Given the description of an element on the screen output the (x, y) to click on. 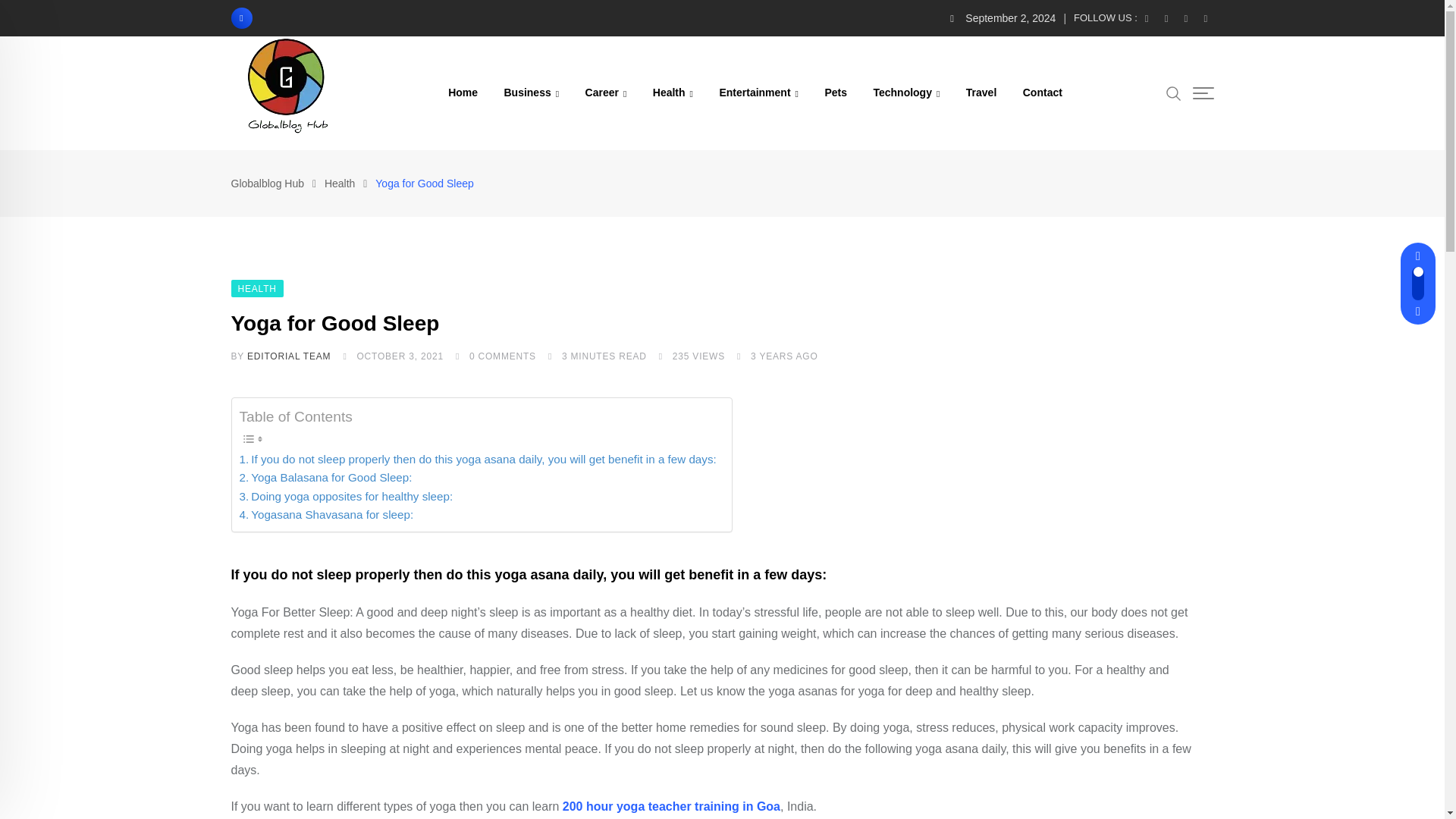
Technology (905, 92)
Search (1173, 92)
Business (531, 92)
Posts by Editorial Team (288, 356)
Go to Globalblog Hub. (267, 183)
Doing yoga opposites for healthy sleep: (346, 495)
Yogasana Shavasana for sleep: (326, 515)
Go to the Health Category archives. (339, 183)
Yoga Balasana for Good Sleep: (326, 477)
